Given the description of an element on the screen output the (x, y) to click on. 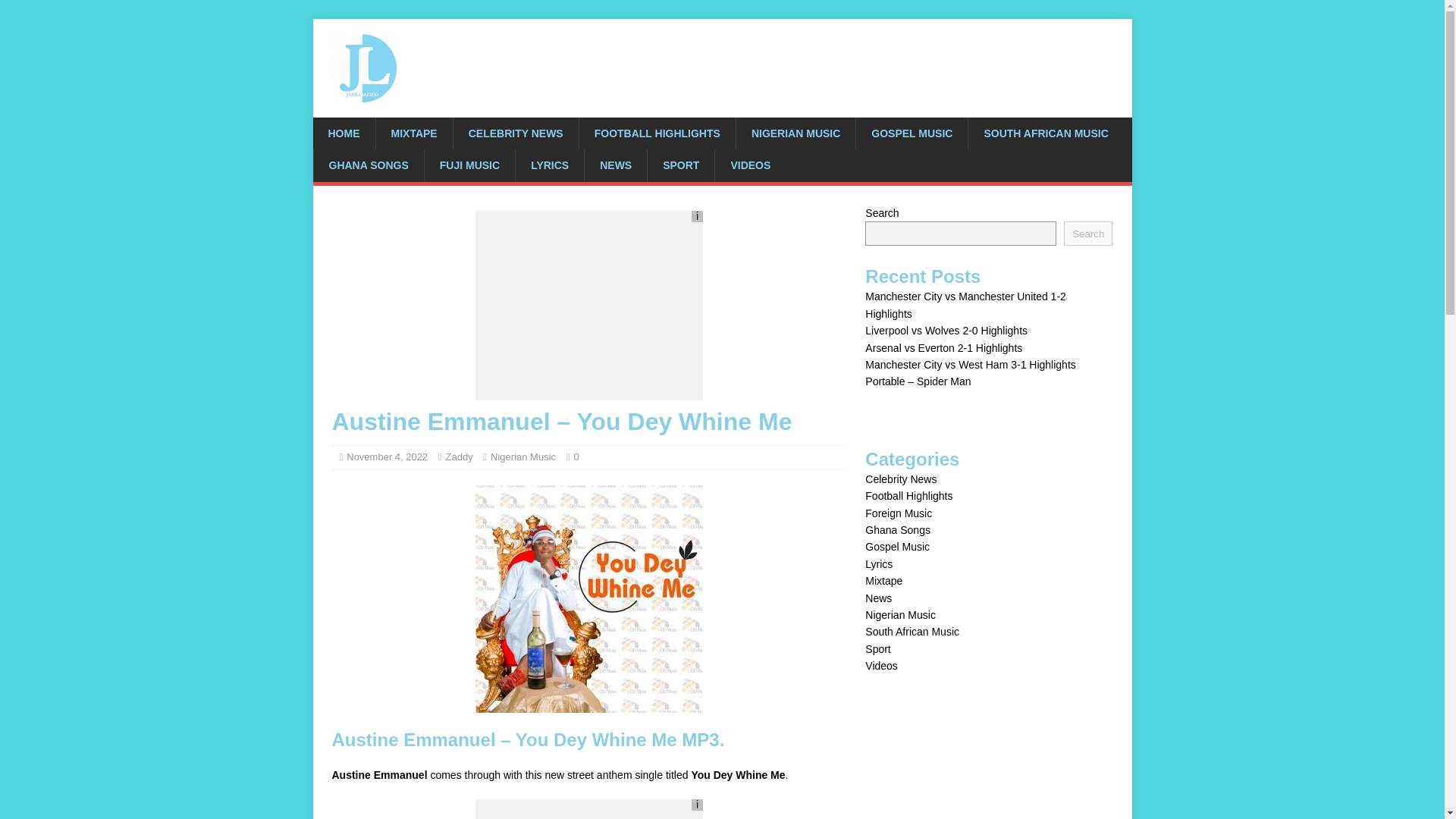
HOME (343, 133)
MIXTAPE (412, 133)
NIGERIAN MUSIC (795, 133)
VIDEOS (750, 164)
FUJI MUSIC (469, 164)
November 4, 2022 (387, 456)
FOOTBALL HIGHLIGHTS (656, 133)
SOUTH AFRICAN MUSIC (1045, 133)
CELEBRITY NEWS (515, 133)
Zaddy (459, 456)
SPORT (680, 164)
LYRICS (549, 164)
GHANA SONGS (368, 164)
Nigerian Music (523, 456)
GOSPEL MUSIC (912, 133)
